Given the description of an element on the screen output the (x, y) to click on. 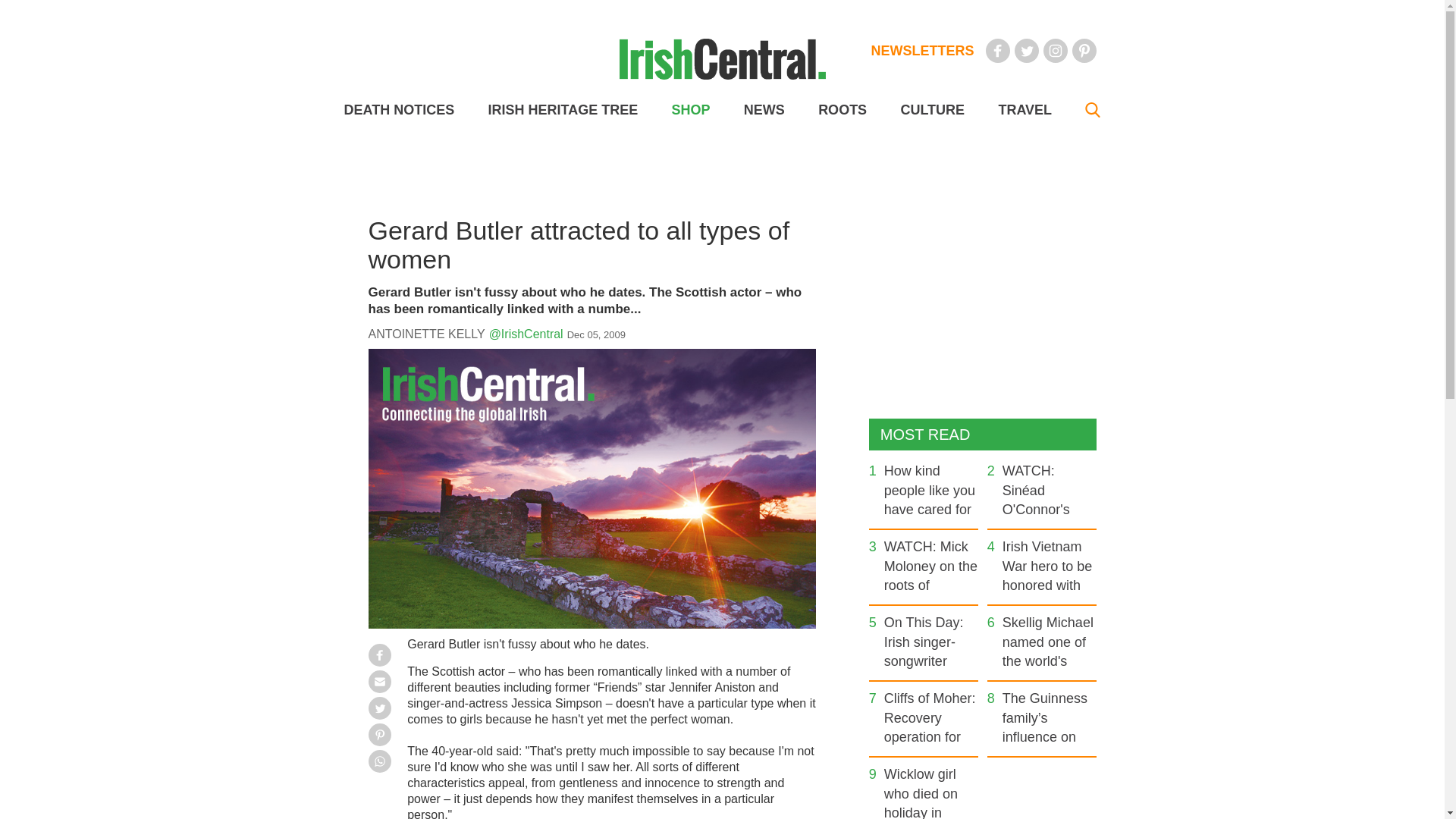
NEWS (764, 109)
NEWSLETTERS (922, 50)
IRISH HERITAGE TREE (562, 109)
TRAVEL (1024, 109)
SHOP (690, 109)
CULTURE (931, 109)
DEATH NOTICES (398, 109)
ROOTS (842, 109)
